Given the description of an element on the screen output the (x, y) to click on. 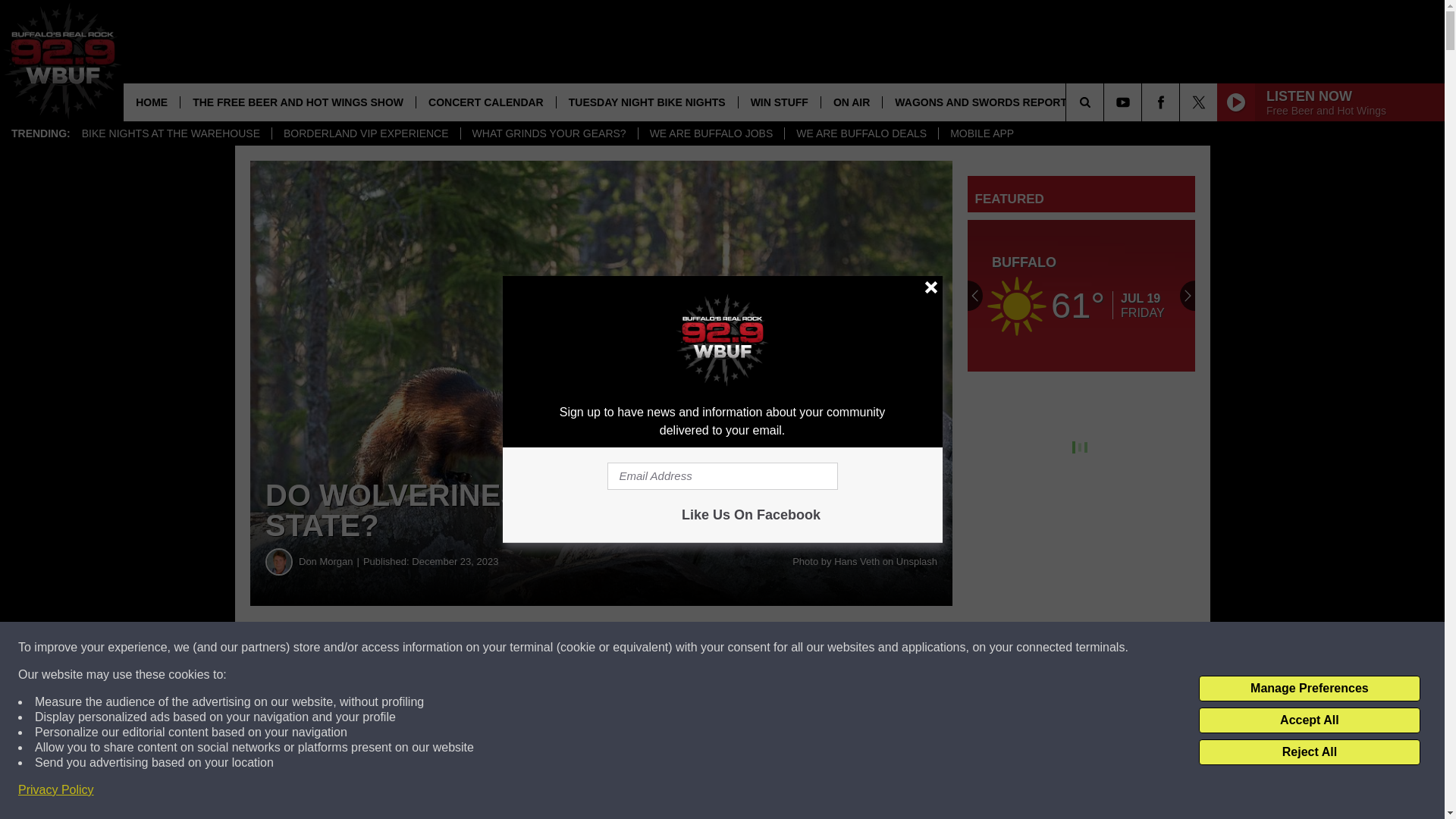
HOME (151, 102)
Manage Preferences (1309, 688)
SEARCH (1106, 102)
WE ARE BUFFALO DEALS (860, 133)
LISTEN (1109, 102)
WE ARE BUFFALO JOBS (710, 133)
THE FREE BEER AND HOT WINGS SHOW (296, 102)
MOBILE APP (981, 133)
BIKE NIGHTS AT THE WAREHOUSE (169, 133)
WAGONS AND SWORDS REPORT (980, 102)
Buffalo Weather (1081, 295)
Privacy Policy (55, 789)
TUESDAY NIGHT BIKE NIGHTS (647, 102)
ON AIR (851, 102)
SEARCH (1106, 102)
